Given the description of an element on the screen output the (x, y) to click on. 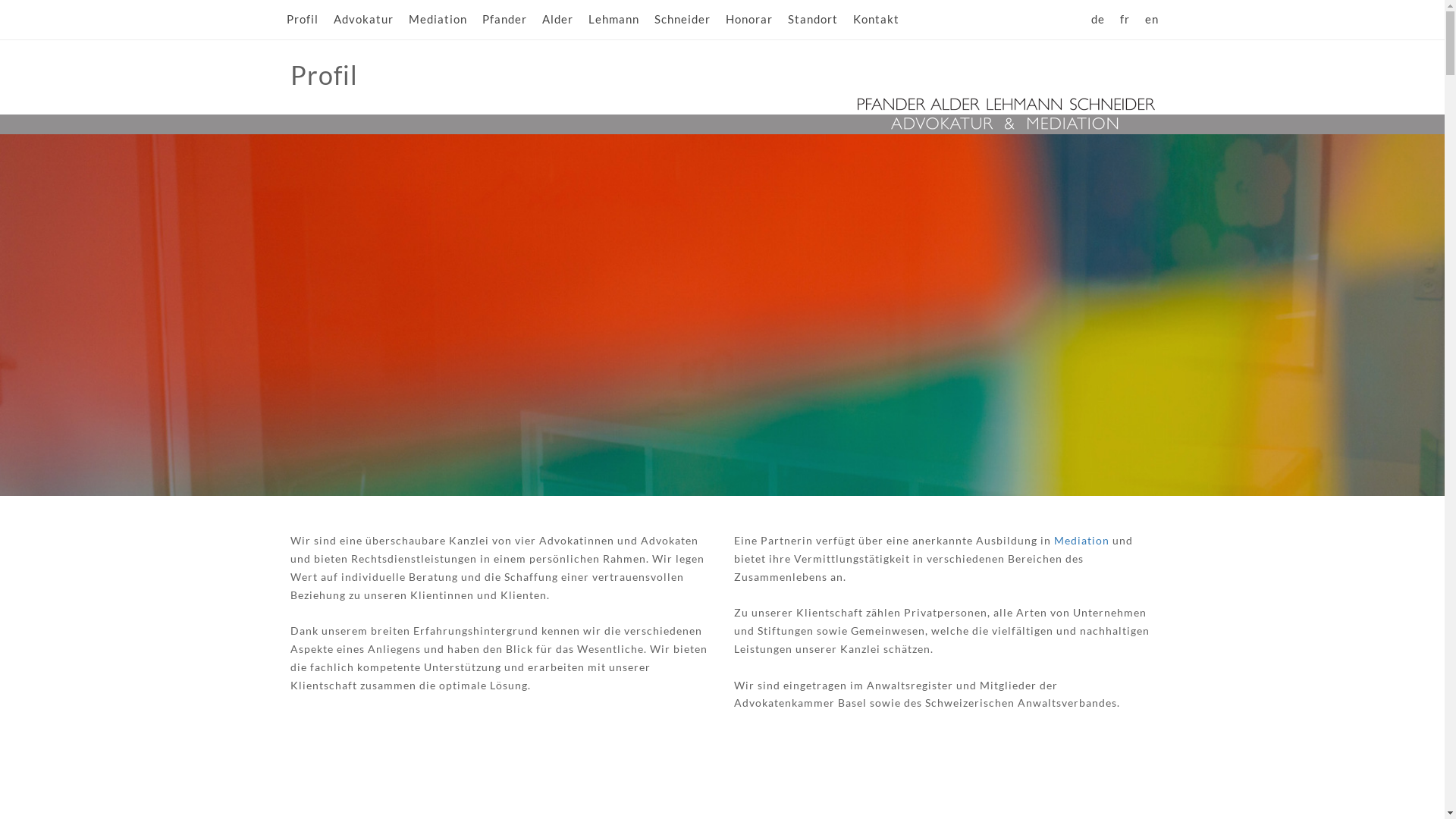
Honorar Element type: text (748, 19)
Lehmann Element type: text (613, 19)
Kontakt Element type: text (875, 19)
Alder Element type: text (556, 19)
de Element type: text (1096, 19)
Schneider Element type: text (681, 19)
Profil Element type: text (302, 19)
Pfander Element type: text (504, 19)
Standort Element type: text (811, 19)
en Element type: text (1151, 19)
fr Element type: text (1123, 19)
Advokatur Element type: text (363, 19)
Mediation Element type: text (436, 19)
Mediation Element type: text (1081, 540)
